Given the description of an element on the screen output the (x, y) to click on. 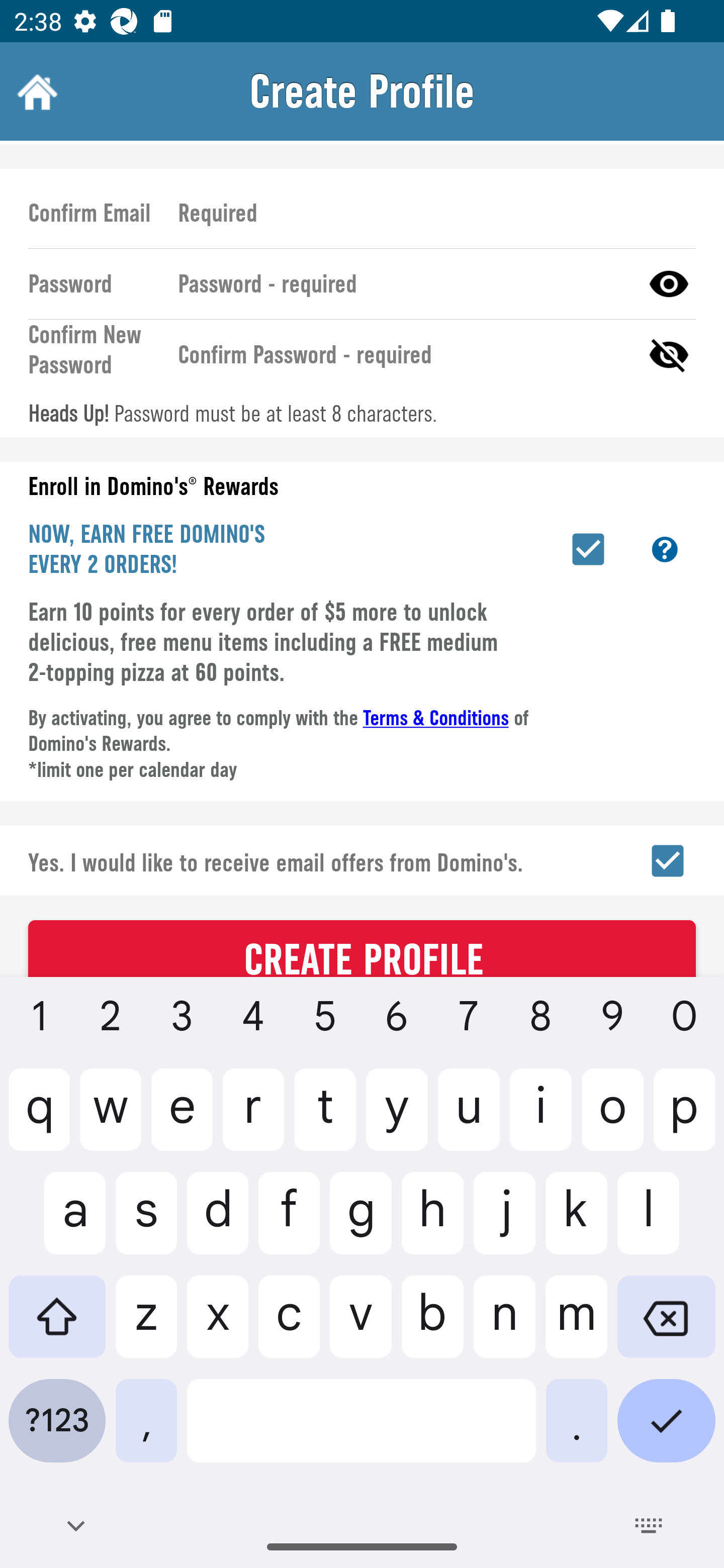
Home (35, 91)
Required Confirm Email Address (427, 212)
Password - required (401, 284)
Show Password (668, 284)
Confirm Password - required (401, 354)
Hide Password (668, 354)
Enroll in Piece of the Pie Rewards (588, 548)
CREATE PROFILE (361, 948)
